Given the description of an element on the screen output the (x, y) to click on. 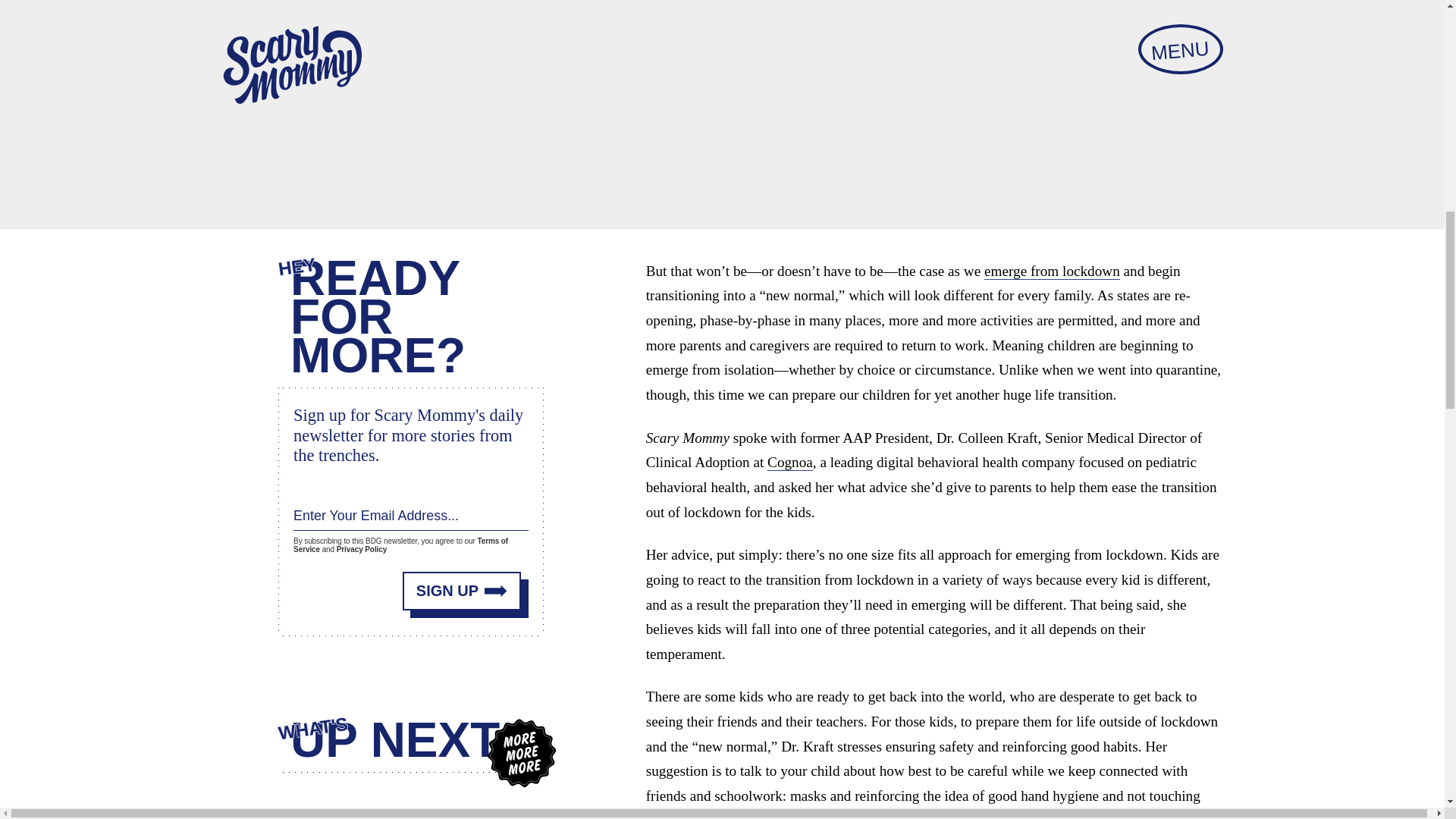
SIGN UP (462, 588)
Privacy Policy (361, 548)
emerge from lockdown (1051, 271)
Cognoa (789, 462)
Terms of Service (401, 544)
